Given the description of an element on the screen output the (x, y) to click on. 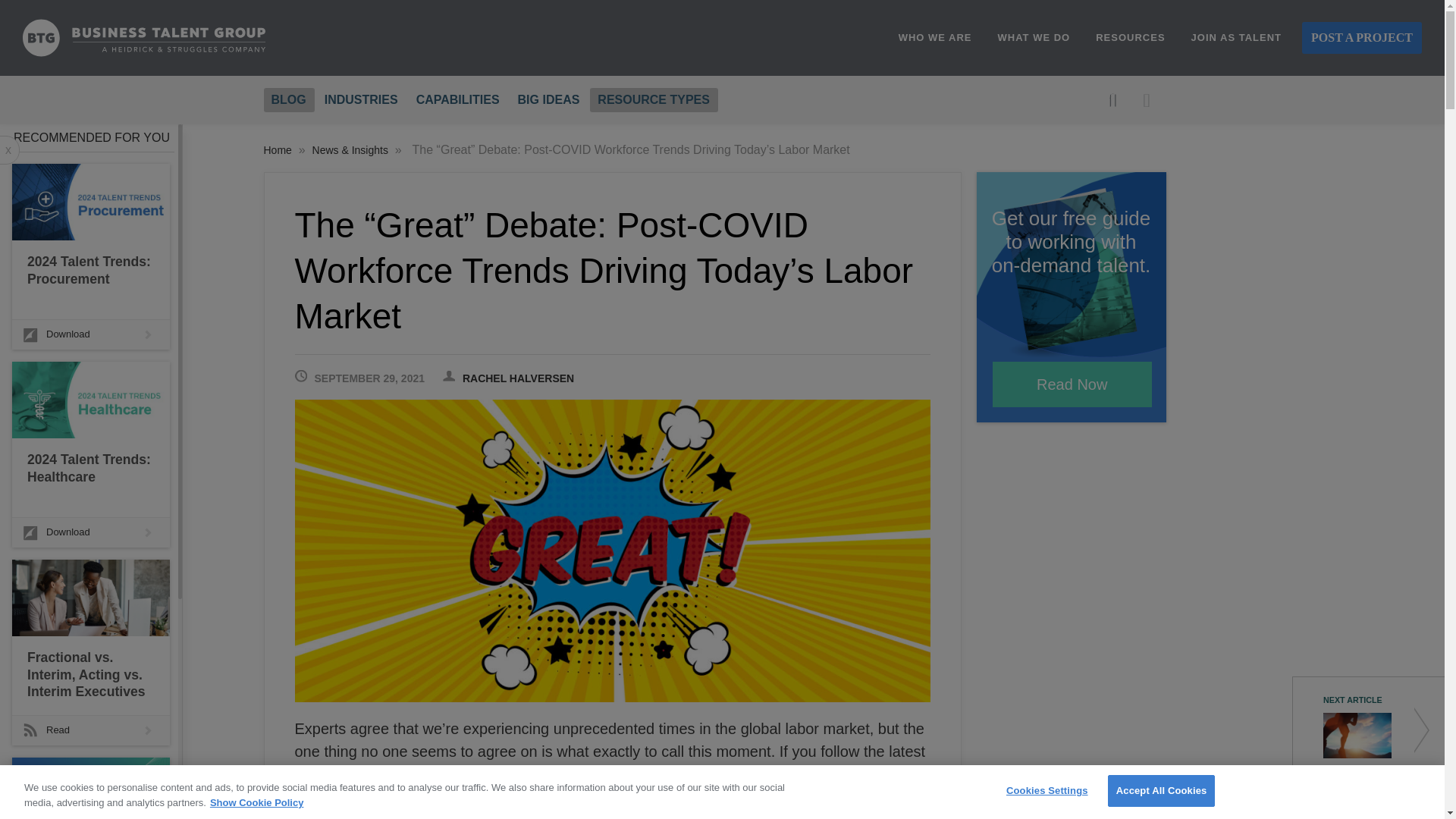
BLOG (288, 99)
WHAT WE DO (1034, 38)
JOIN AS TALENT (1235, 38)
WHO WE ARE (935, 38)
POST A PROJECT (1361, 38)
INDUSTRIES (361, 99)
RESOURCES (1130, 38)
